Given the description of an element on the screen output the (x, y) to click on. 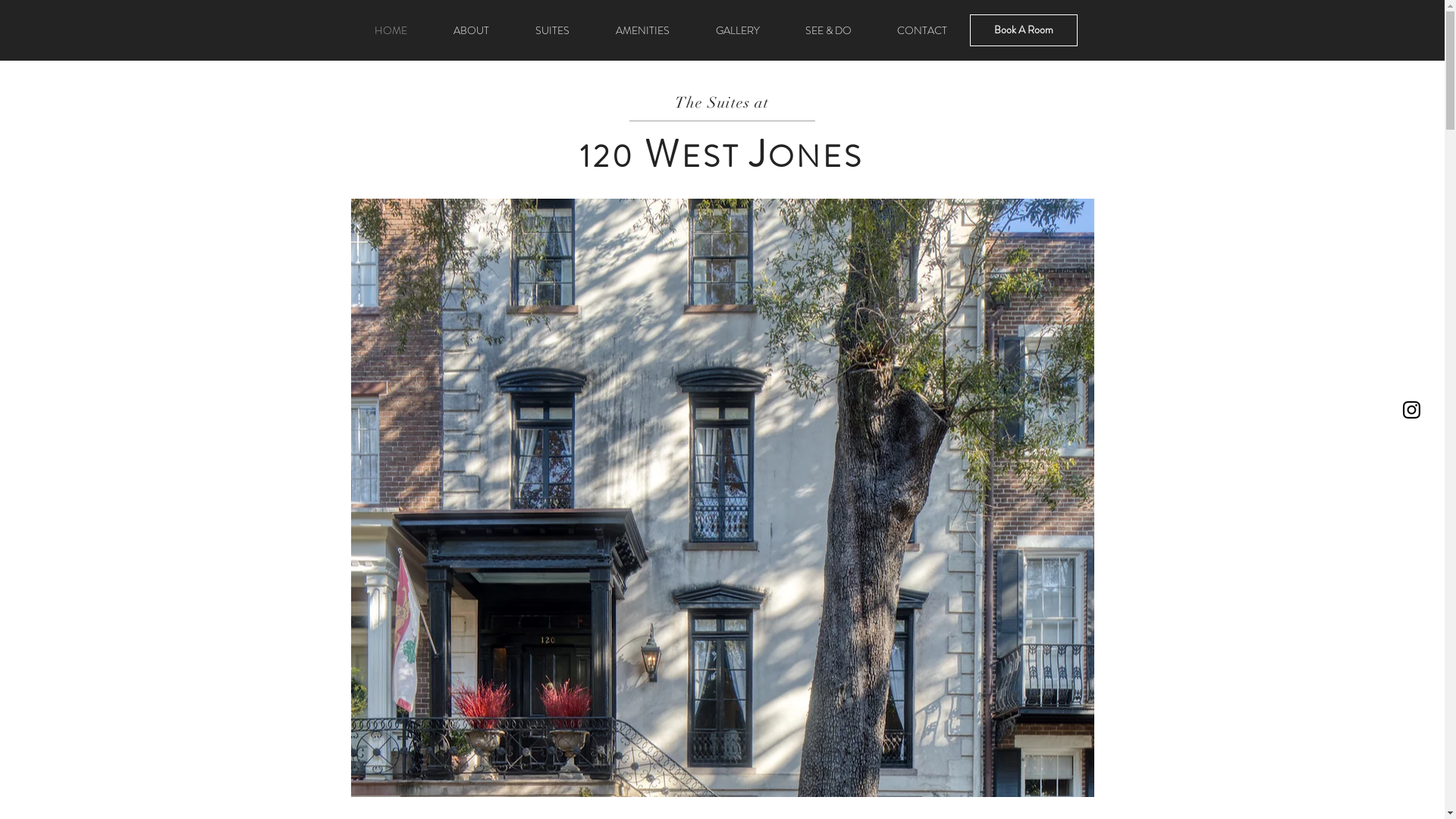
ABOUT Element type: text (471, 30)
AMENITIES Element type: text (643, 30)
GALLERY Element type: text (737, 30)
SEE & DO Element type: text (828, 30)
Book A Room Element type: text (1022, 30)
SUITES Element type: text (552, 30)
CONTACT Element type: text (921, 30)
HOME Element type: text (390, 30)
